Given the description of an element on the screen output the (x, y) to click on. 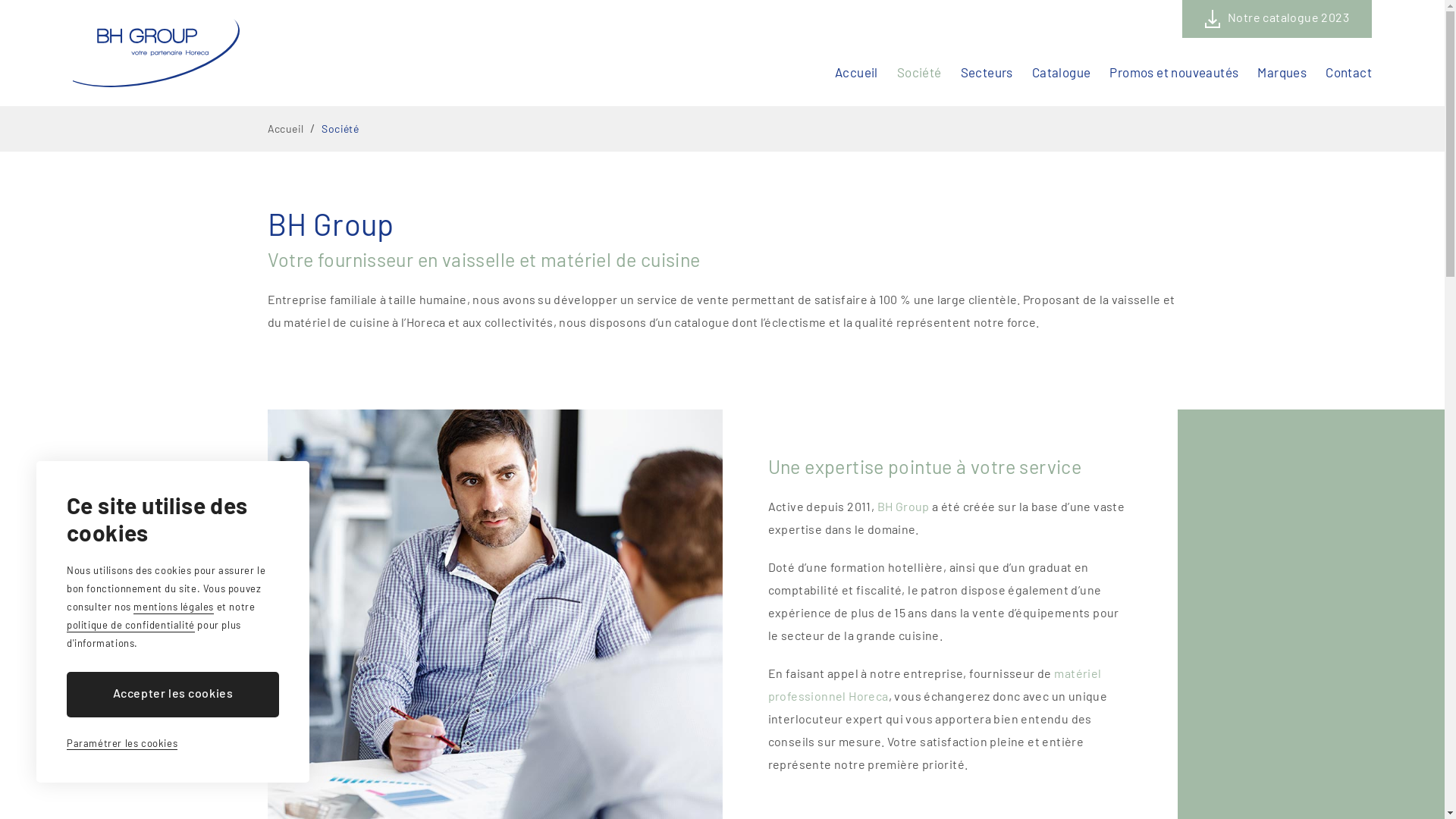
Accueil Element type: text (284, 128)
Contact Element type: text (1348, 71)
Marques Element type: text (1281, 71)
BH Group Element type: text (902, 505)
Catalogue Element type: text (1061, 71)
Accueil Element type: text (856, 71)
BH Group Element type: hover (155, 52)
Notre catalogue 2023 Element type: text (1276, 18)
Secteurs Element type: text (986, 71)
